Given the description of an element on the screen output the (x, y) to click on. 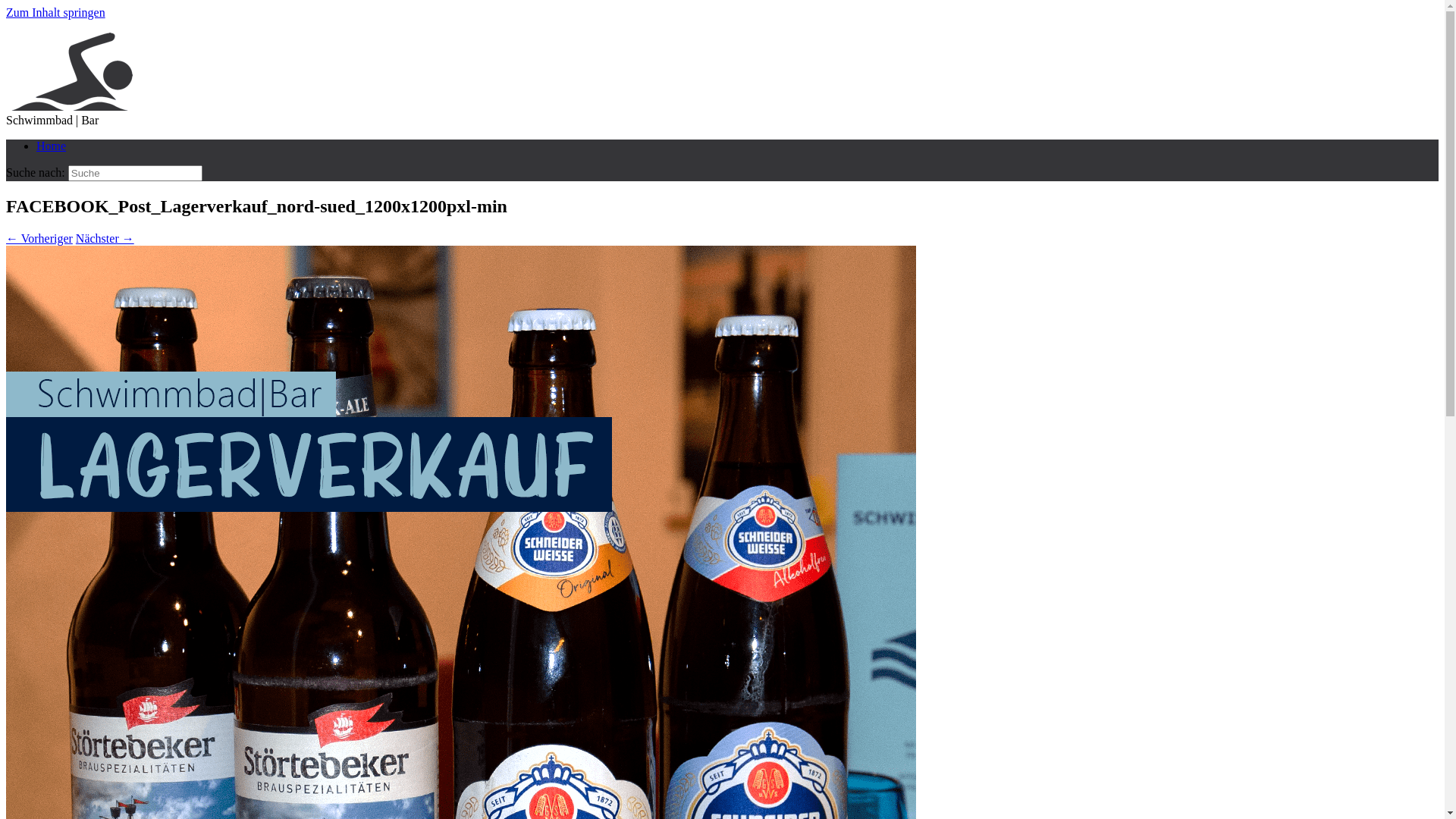
Zum Inhalt springen Element type: text (55, 12)
Home Element type: text (50, 145)
Schwimmbad | Bar Element type: hover (72, 106)
